Given the description of an element on the screen output the (x, y) to click on. 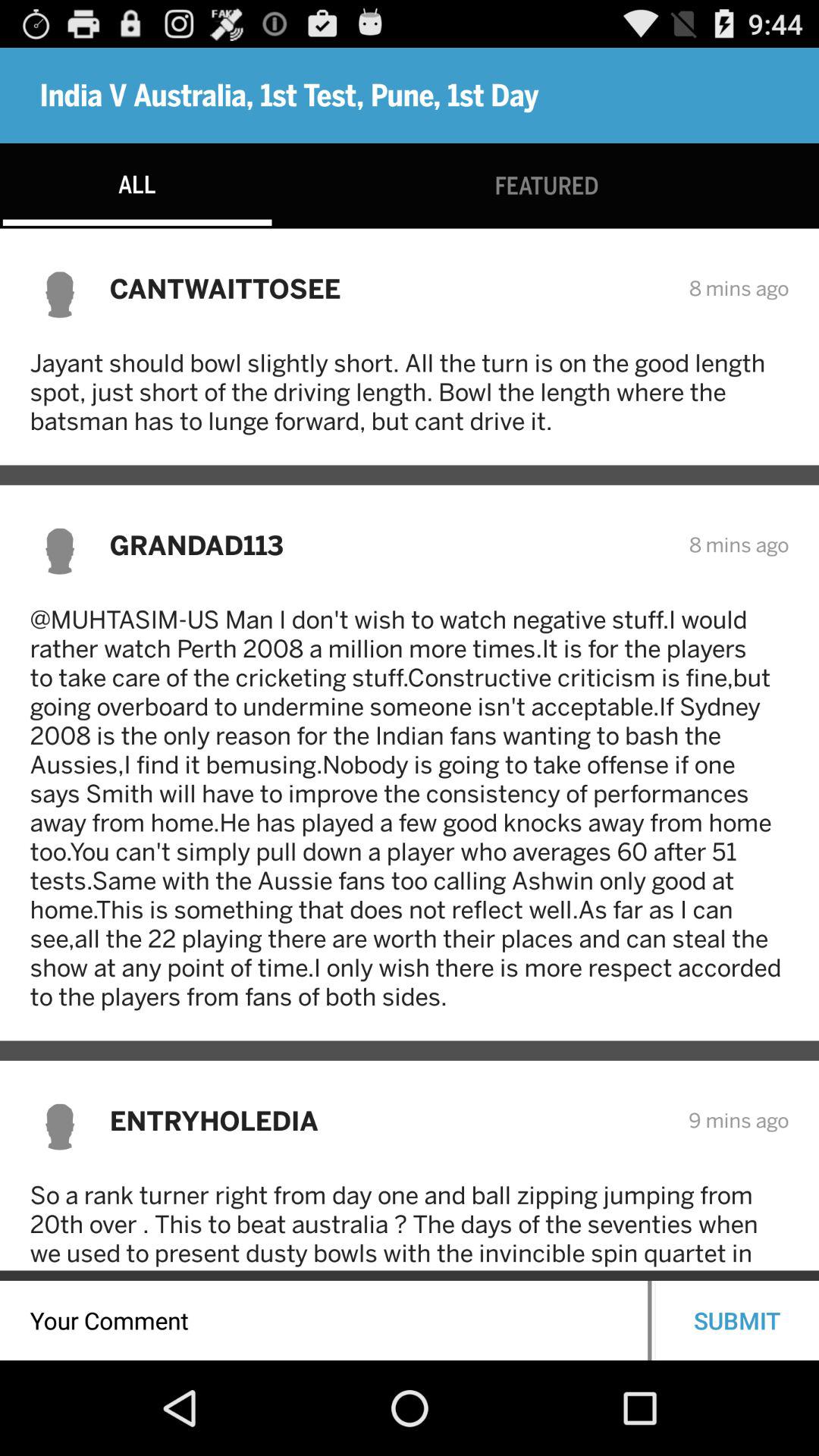
turn off the item to the left of 8 mins ago item (389, 288)
